Given the description of an element on the screen output the (x, y) to click on. 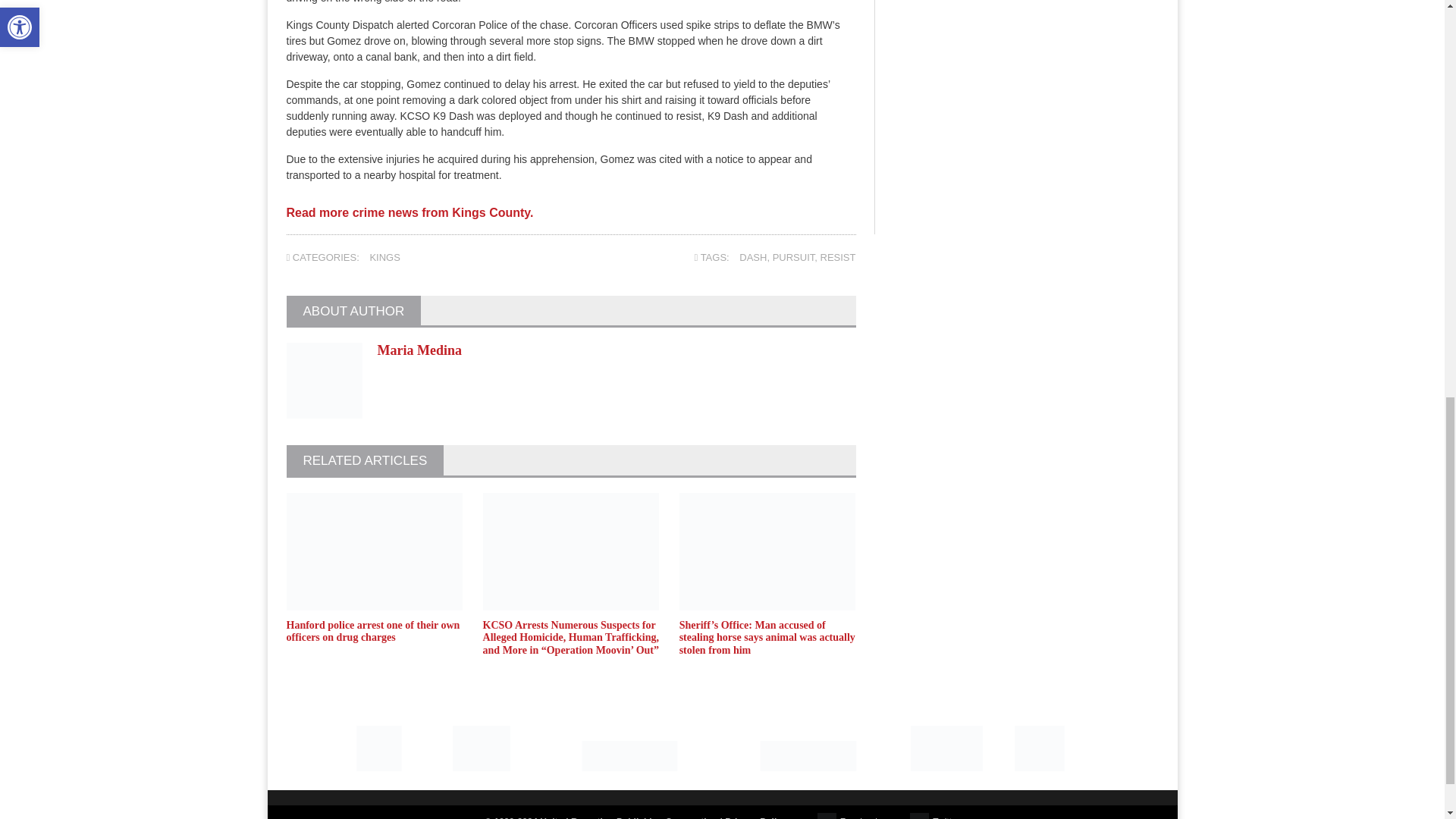
RESIST (838, 256)
KINGS (383, 256)
DASH (753, 256)
Read more crime news from Kings County. (410, 218)
Maria Medina (419, 350)
PURSUIT (794, 256)
